Given the description of an element on the screen output the (x, y) to click on. 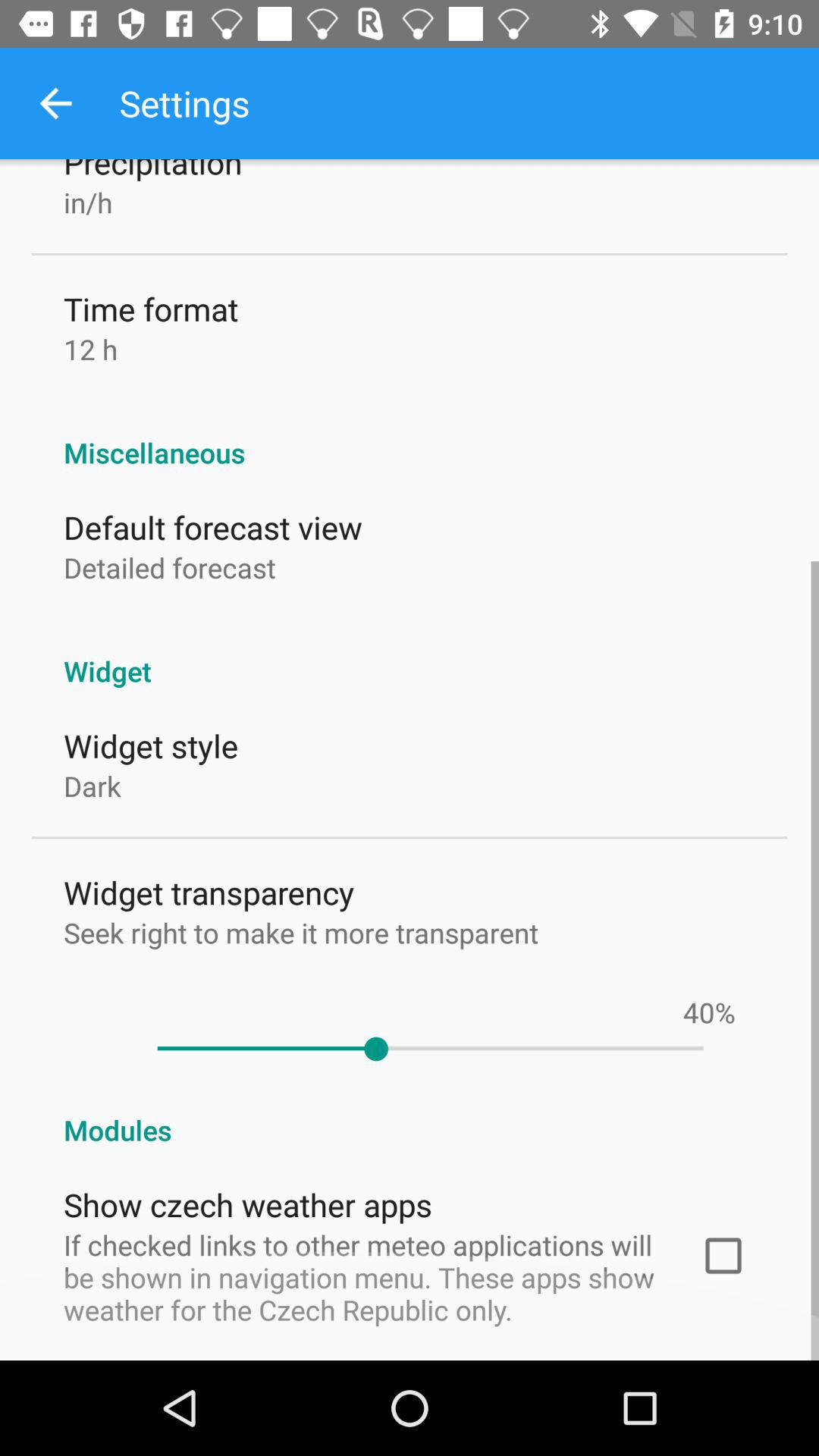
select icon above the precipitation item (55, 103)
